Given the description of an element on the screen output the (x, y) to click on. 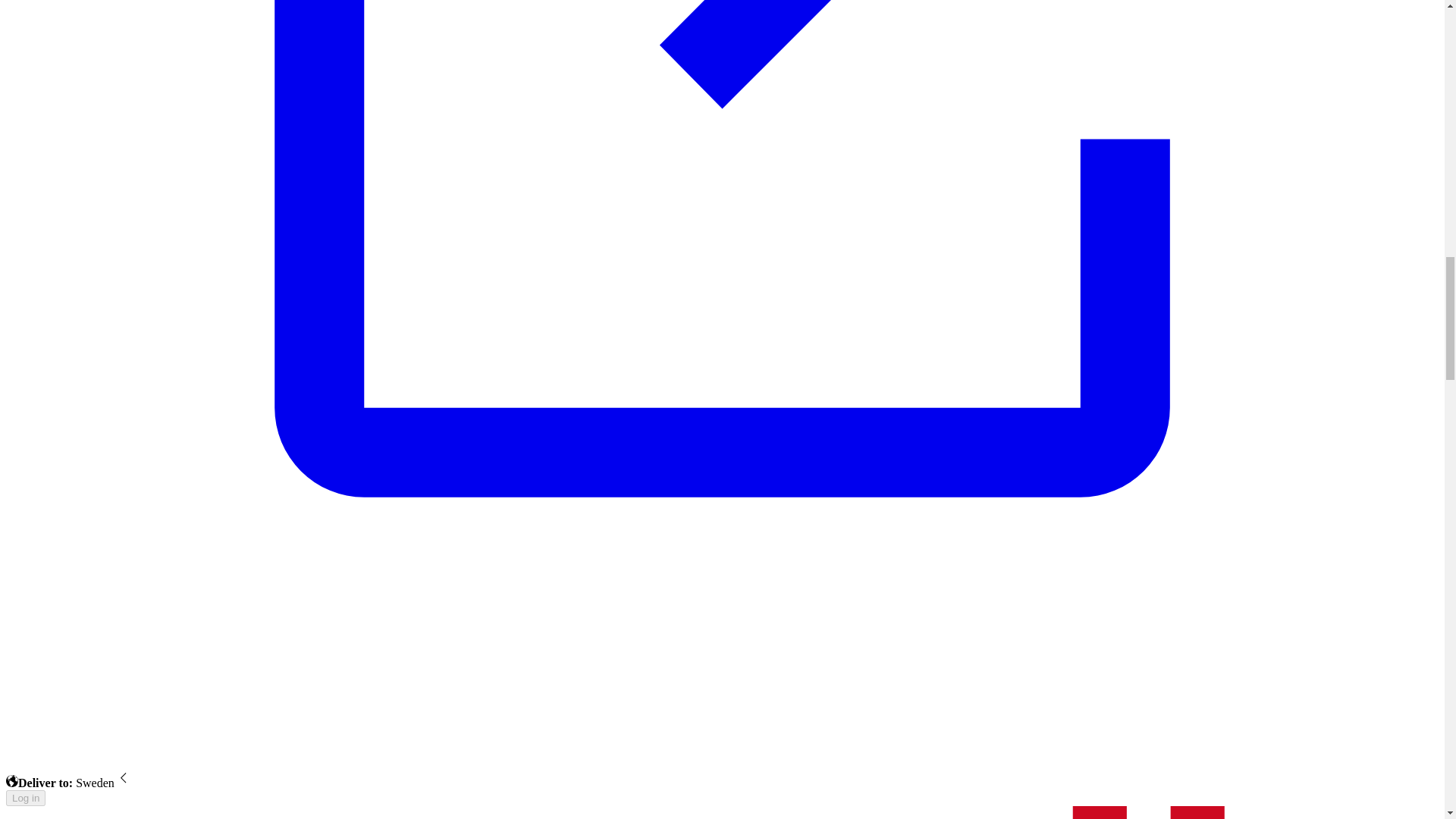
Log in (25, 797)
